Given the description of an element on the screen output the (x, y) to click on. 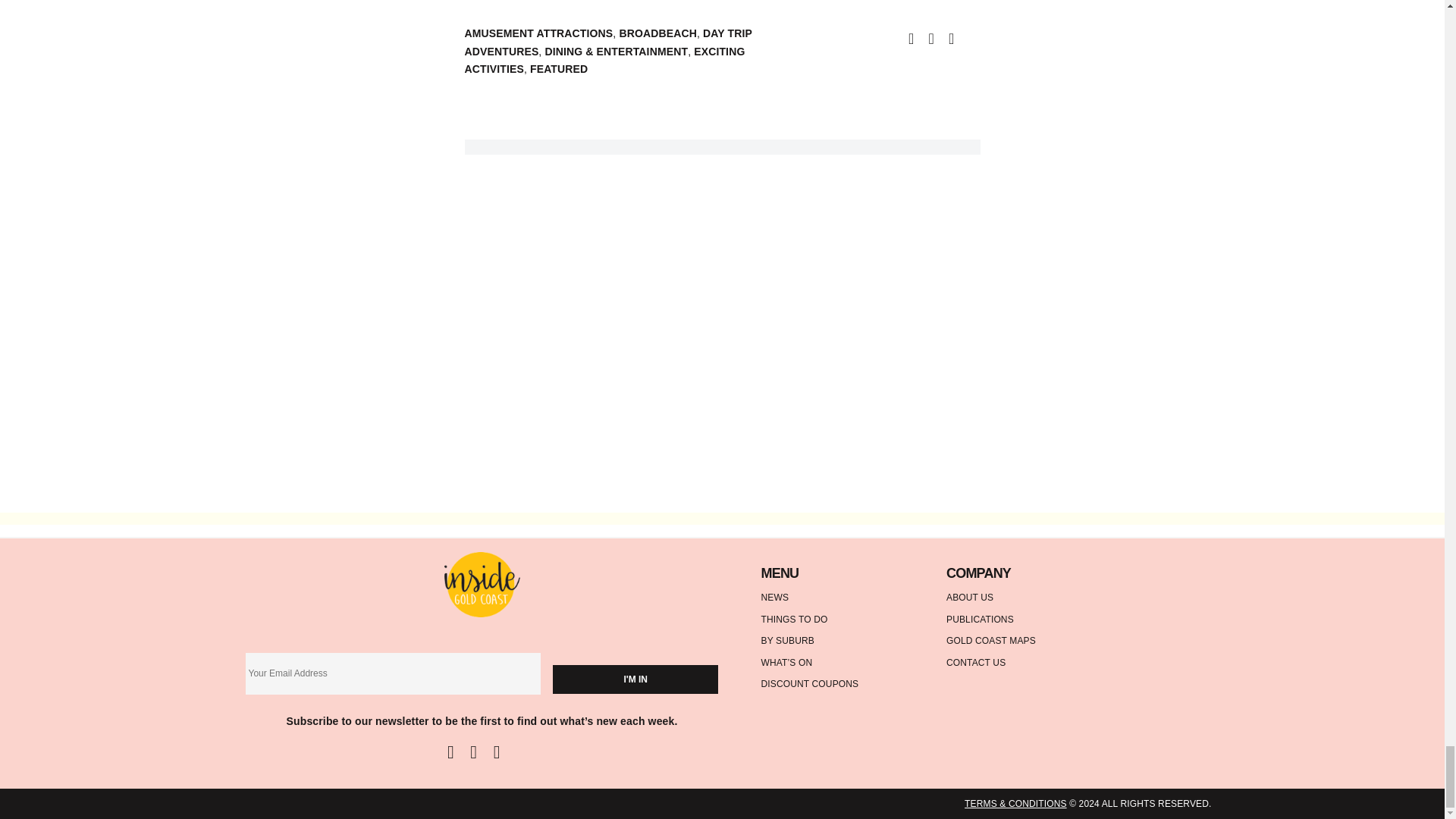
I'm In (635, 679)
